Given the description of an element on the screen output the (x, y) to click on. 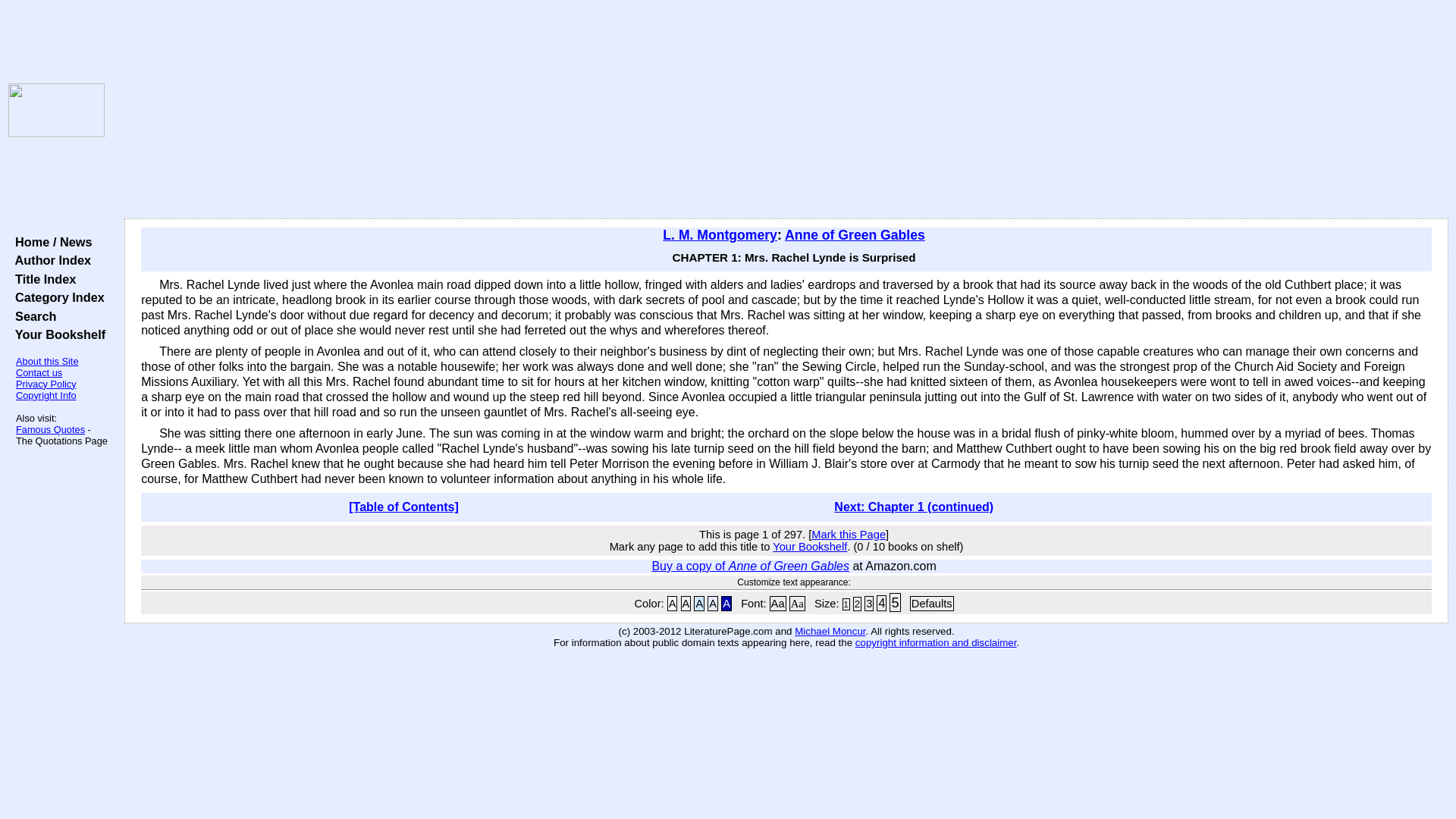
Serif (797, 603)
Size 2 (857, 603)
Aa (778, 603)
Size 4 (881, 602)
Mark this Page (847, 534)
  Author Index (49, 259)
A (686, 603)
2 (857, 603)
  Search (32, 315)
  Title Index (41, 278)
1 (846, 604)
Aa (797, 603)
L. M. Montgomery (719, 234)
Contact us (39, 372)
4 (881, 602)
